Given the description of an element on the screen output the (x, y) to click on. 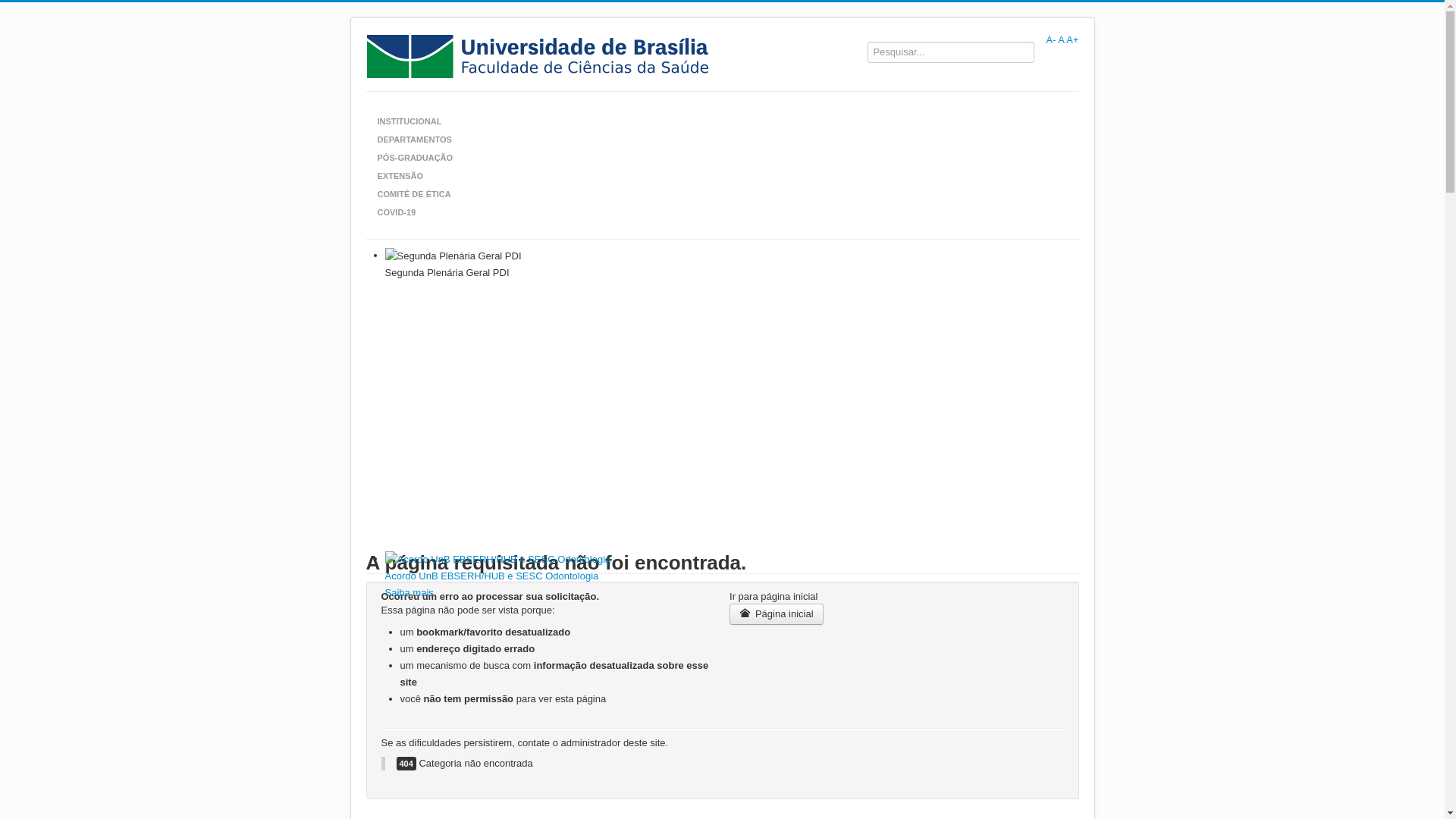
Saiba mais Element type: text (409, 592)
A+ Element type: text (1072, 39)
A- Element type: text (1050, 39)
A Element type: text (1060, 39)
Acordo UnB EBSERH/HUB e SESC Odontologia Element type: text (492, 575)
